Given the description of an element on the screen output the (x, y) to click on. 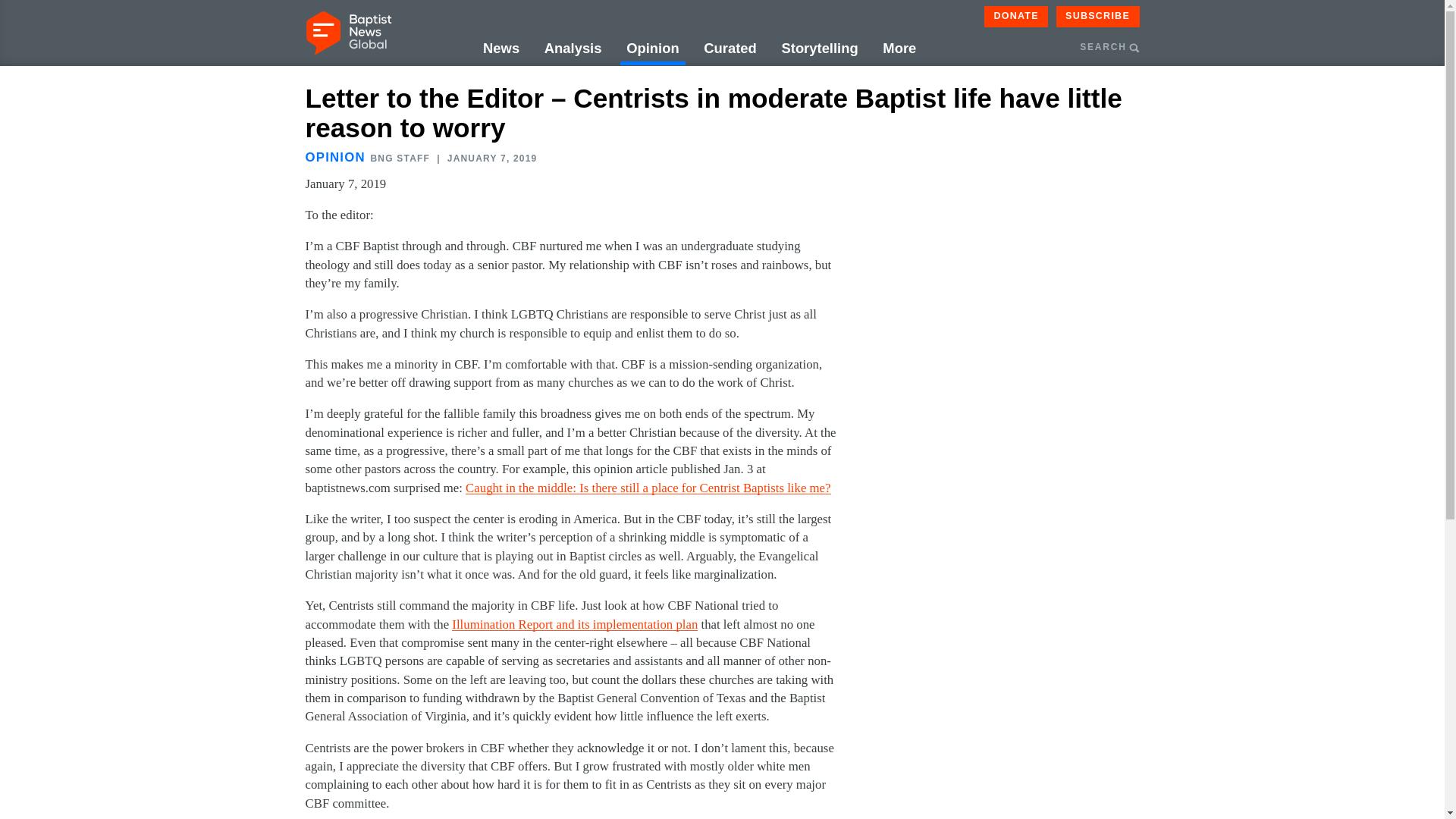
Search (1193, 119)
Curated (729, 49)
DONATE (1016, 16)
Posts by BNG staff (399, 158)
Analysis (573, 49)
SUBSCRIBE (1098, 16)
Storytelling (819, 49)
Opinion (652, 49)
News (501, 49)
OPINION (334, 156)
